Given the description of an element on the screen output the (x, y) to click on. 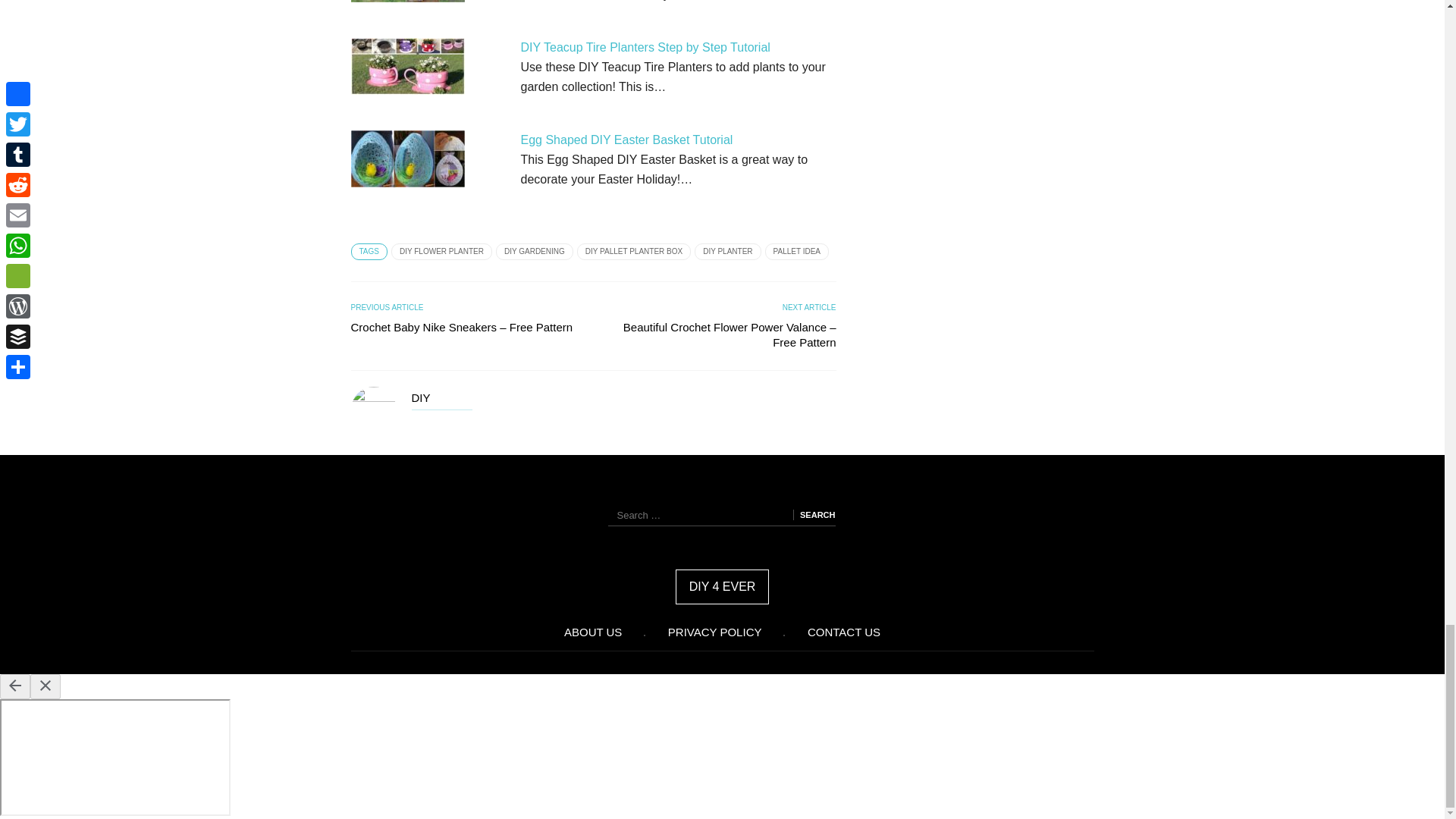
DIY 4 EVER (722, 586)
